Given the description of an element on the screen output the (x, y) to click on. 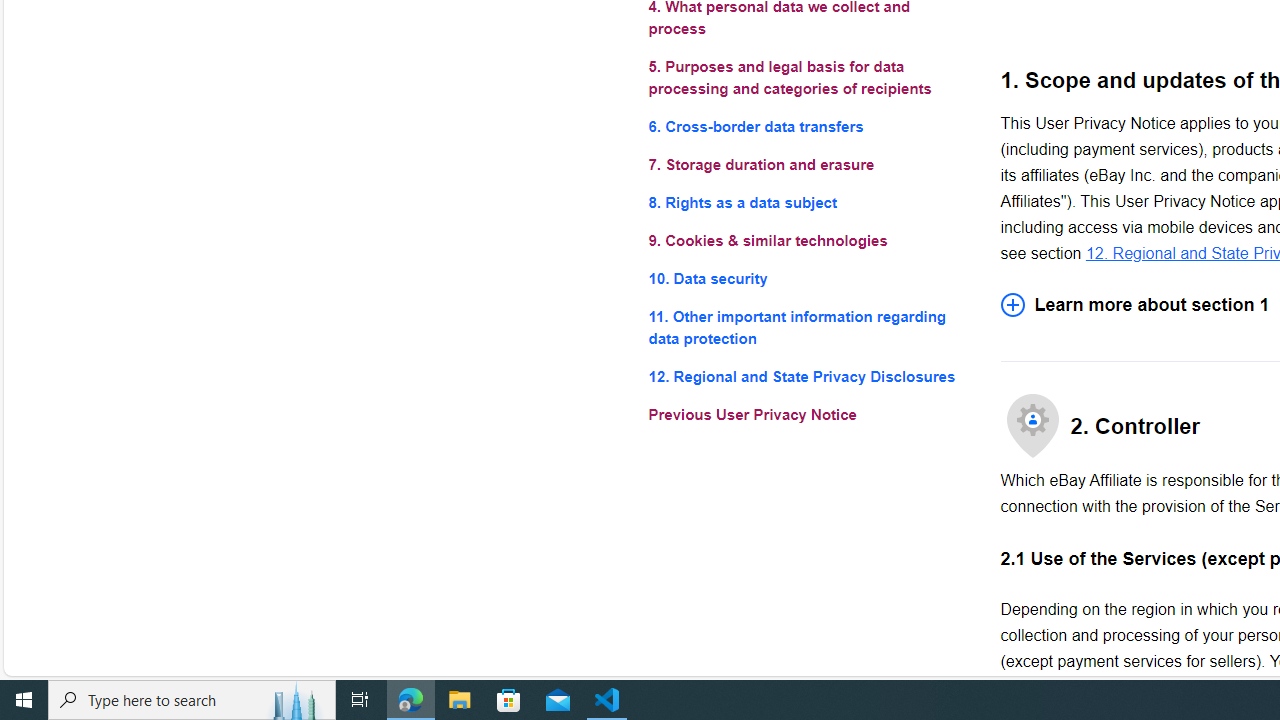
12. Regional and State Privacy Disclosures (807, 376)
10. Data security (807, 278)
7. Storage duration and erasure (807, 164)
11. Other important information regarding data protection (807, 328)
12. Regional and State Privacy Disclosures (807, 376)
9. Cookies & similar technologies (807, 240)
8. Rights as a data subject (807, 203)
10. Data security (807, 278)
11. Other important information regarding data protection (807, 328)
Previous User Privacy Notice (807, 414)
8. Rights as a data subject (807, 203)
9. Cookies & similar technologies (807, 240)
6. Cross-border data transfers (807, 126)
